Given the description of an element on the screen output the (x, y) to click on. 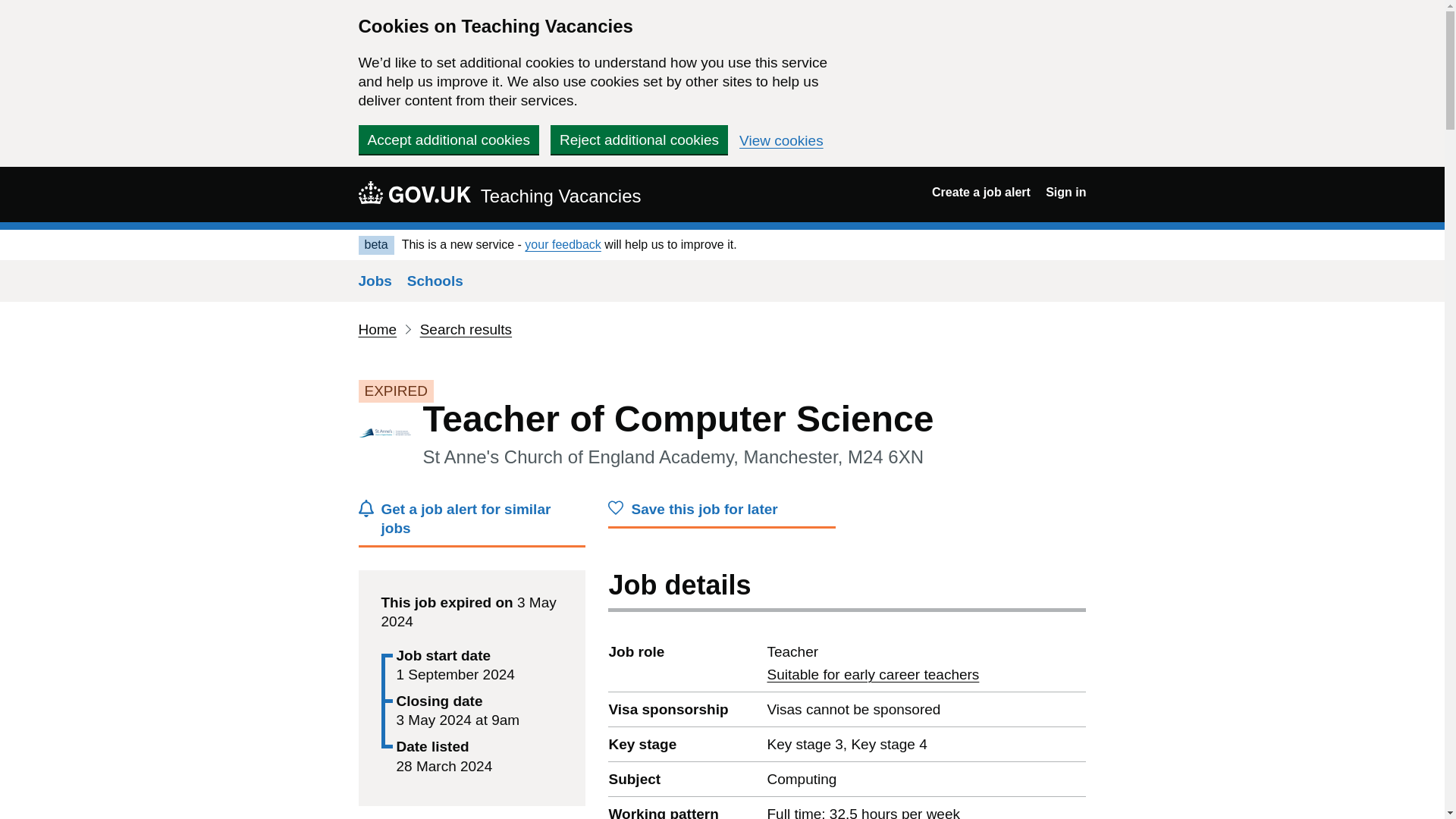
Accept additional cookies (448, 139)
View cookies (781, 140)
your feedback (562, 244)
Save this job for later (721, 513)
Home (377, 329)
Schools (435, 281)
Get a job alert for similar jobs (471, 522)
Search results (466, 329)
Sign in (1065, 192)
Create a job alert (980, 192)
